Given the description of an element on the screen output the (x, y) to click on. 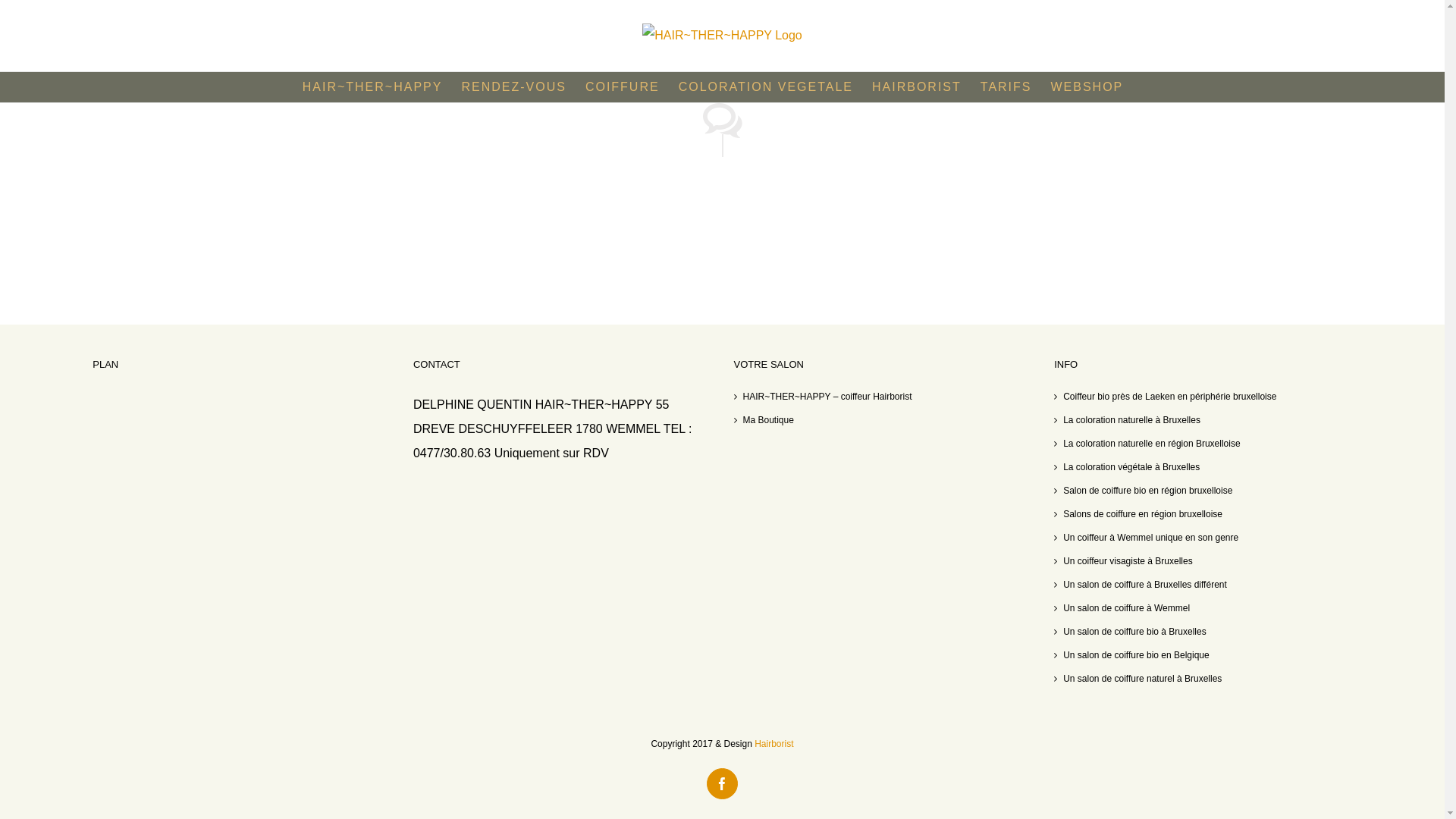
RENDEZ-VOUS Element type: text (513, 87)
COLORATION VEGETALE Element type: text (765, 87)
Facebook Element type: text (721, 783)
COIFFURE Element type: text (622, 87)
Hairborist Element type: text (773, 743)
Un salon de coiffure bio en Belgique Element type: text (1203, 654)
Ma Boutique Element type: text (883, 419)
WEBSHOP Element type: text (1087, 87)
HAIRBORIST Element type: text (916, 87)
TARIFS Element type: text (1006, 87)
HAIR~THER~HAPPY Element type: text (372, 87)
